Given the description of an element on the screen output the (x, y) to click on. 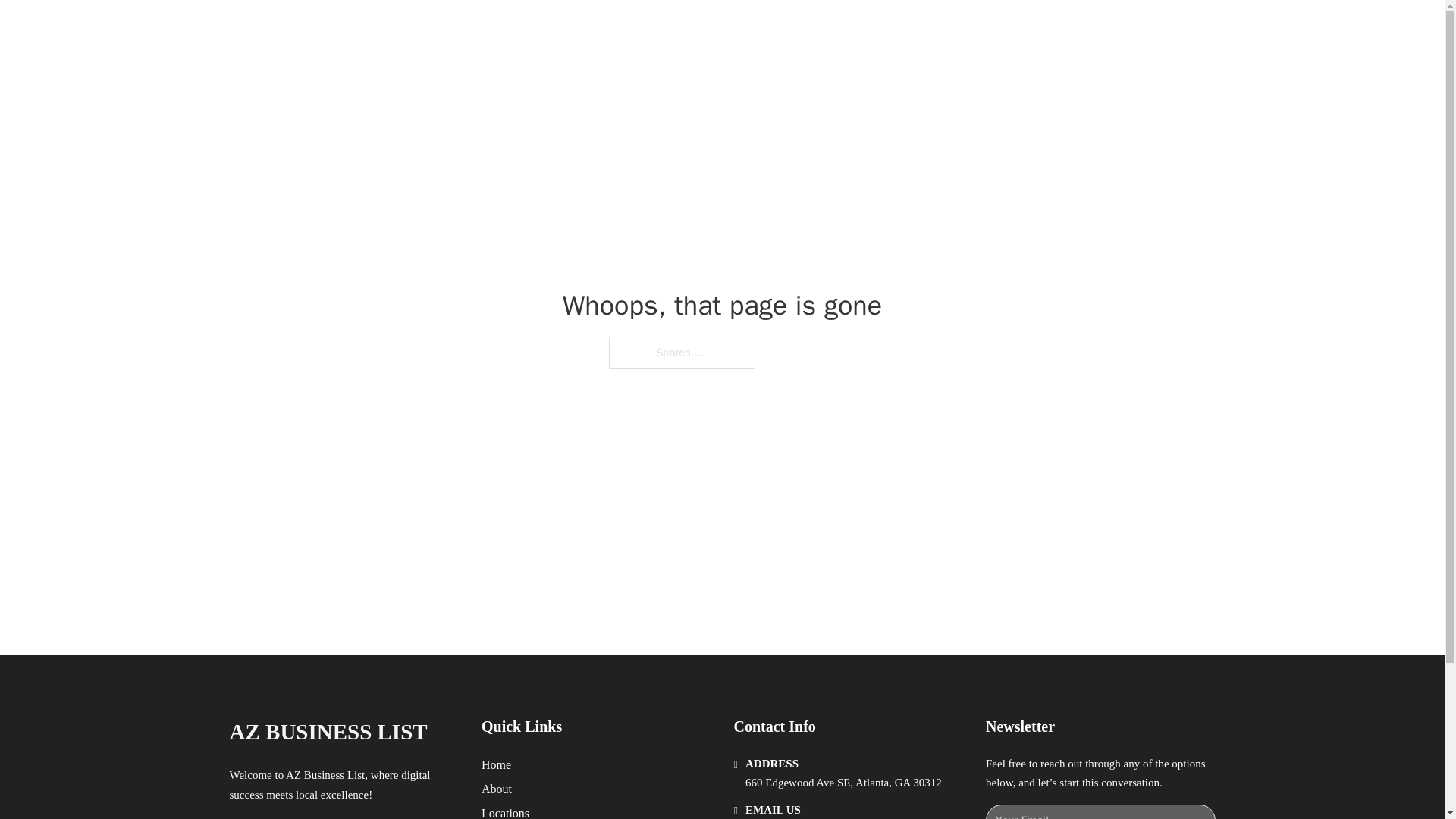
AZ BUSINESS LIST (327, 732)
HOME (919, 29)
Locations (505, 811)
Home (496, 764)
LOCATIONS (990, 29)
About (496, 788)
AZ BUSINESS LIST (403, 28)
